Given the description of an element on the screen output the (x, y) to click on. 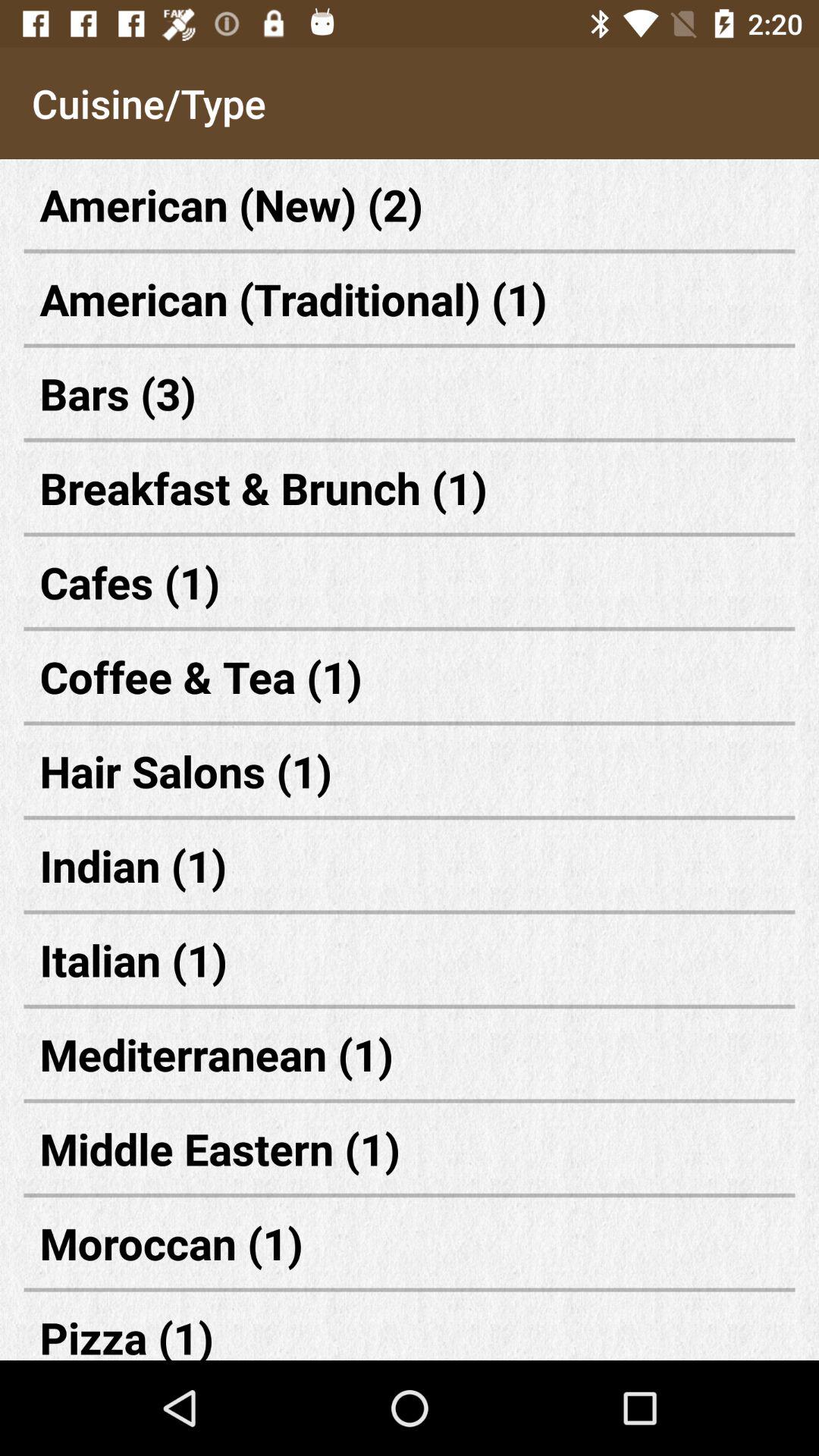
select icon above breakfast & brunch (1) item (409, 393)
